Given the description of an element on the screen output the (x, y) to click on. 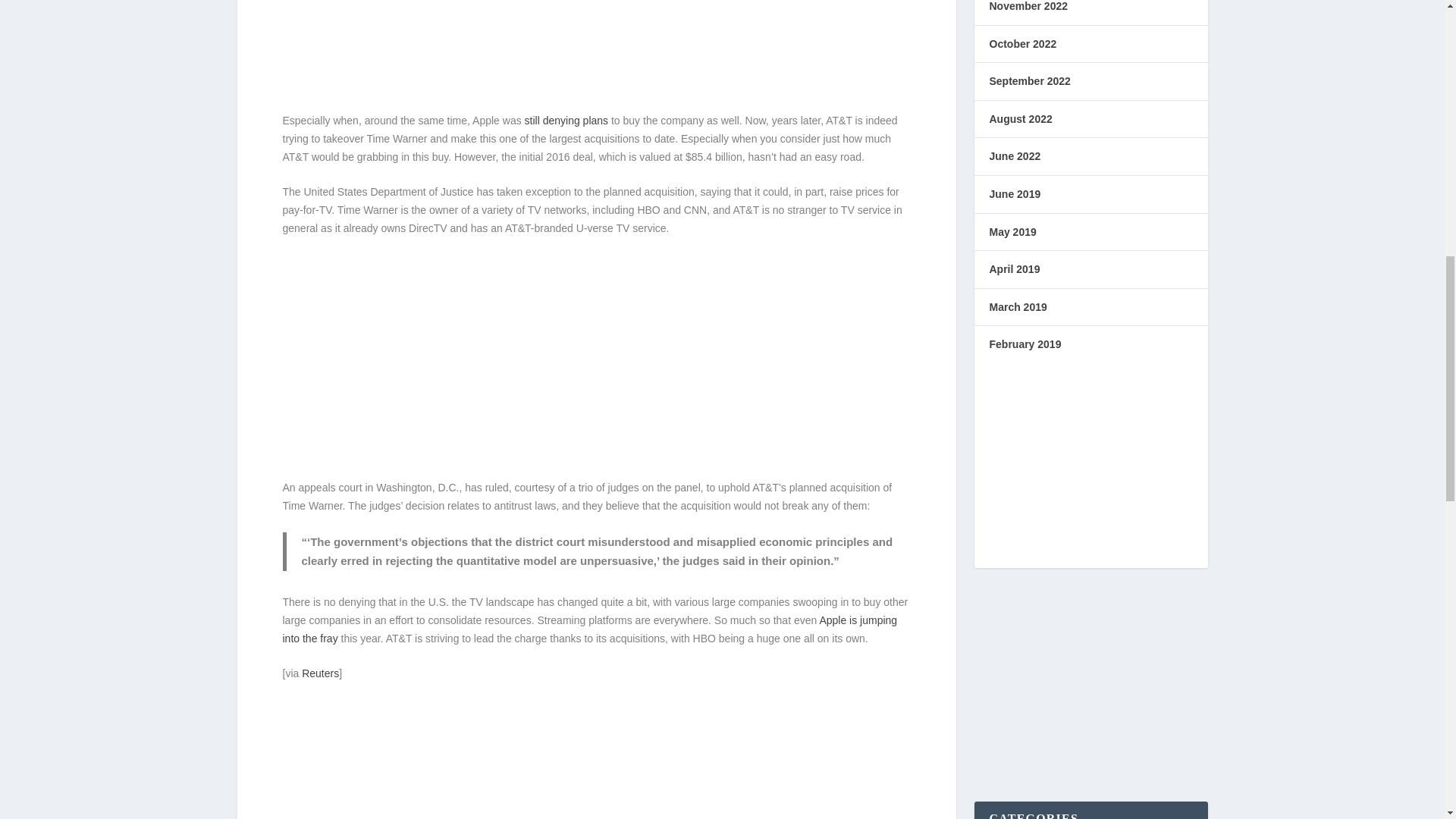
Apple is jumping into the fray (589, 629)
Advertisement (596, 53)
Reuters (320, 673)
Advertisement (596, 360)
still denying plans (566, 120)
